Given the description of an element on the screen output the (x, y) to click on. 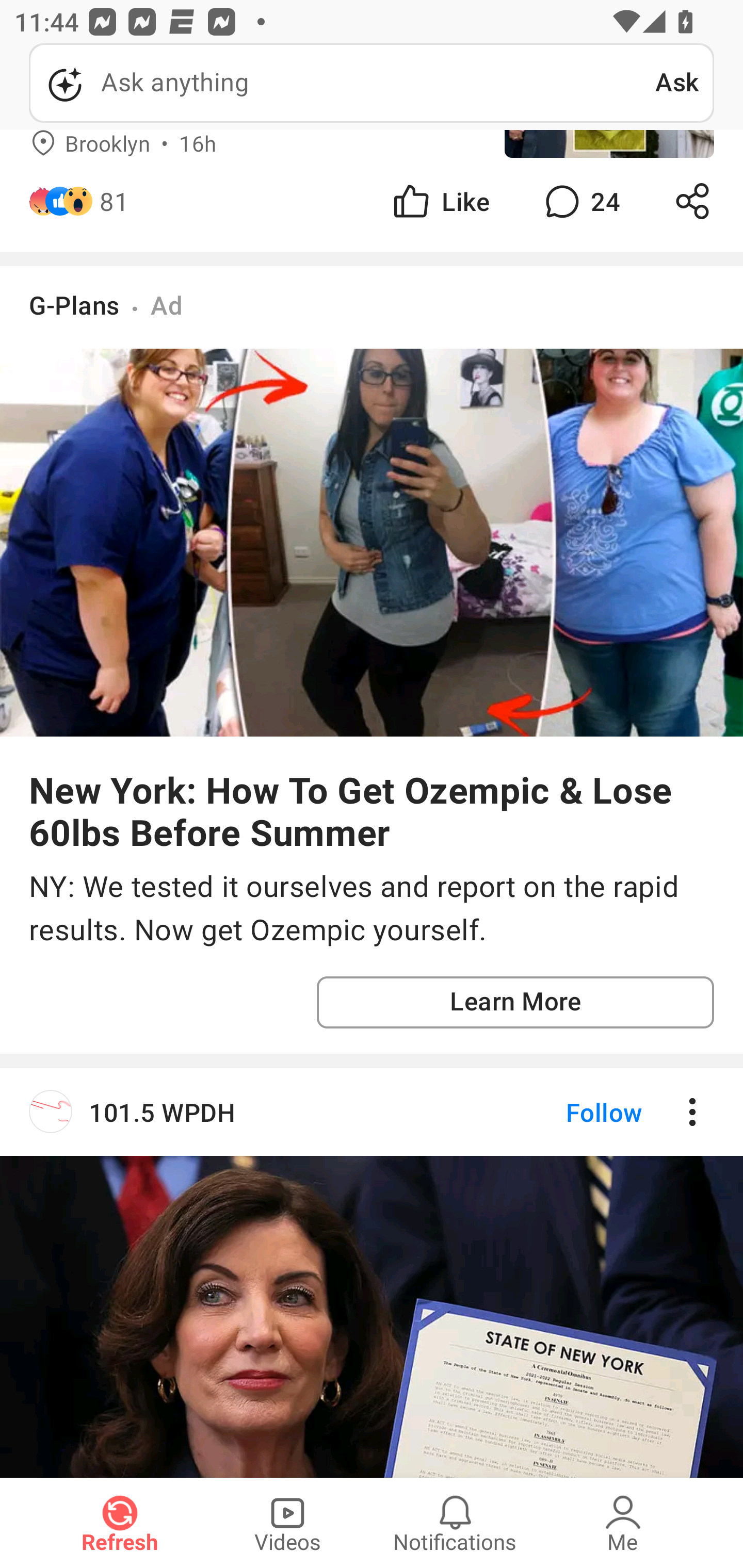
Ask anything (341, 82)
81 (114, 201)
Like (439, 201)
24 (579, 201)
G-Plans (73, 304)
Learn More (515, 1002)
101.5 WPDH Follow (371, 1272)
101.5 WPDH Follow (371, 1111)
Follow (569, 1111)
Videos (287, 1522)
Notifications (455, 1522)
Me (622, 1522)
